Given the description of an element on the screen output the (x, y) to click on. 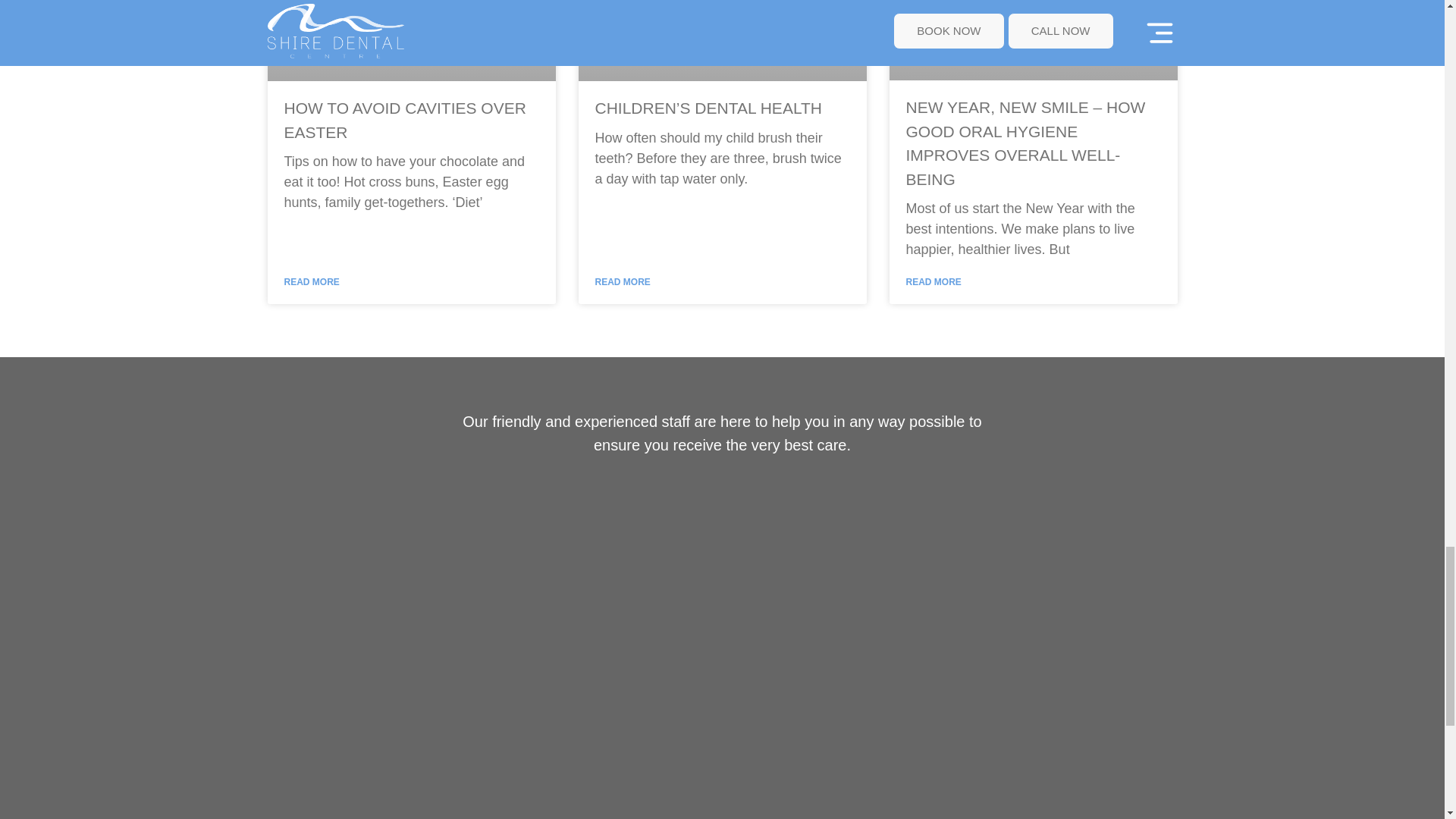
READ MORE (311, 282)
HOW TO AVOID CAVITIES OVER EASTER (404, 119)
READ MORE (621, 282)
READ MORE (932, 282)
